Given the description of an element on the screen output the (x, y) to click on. 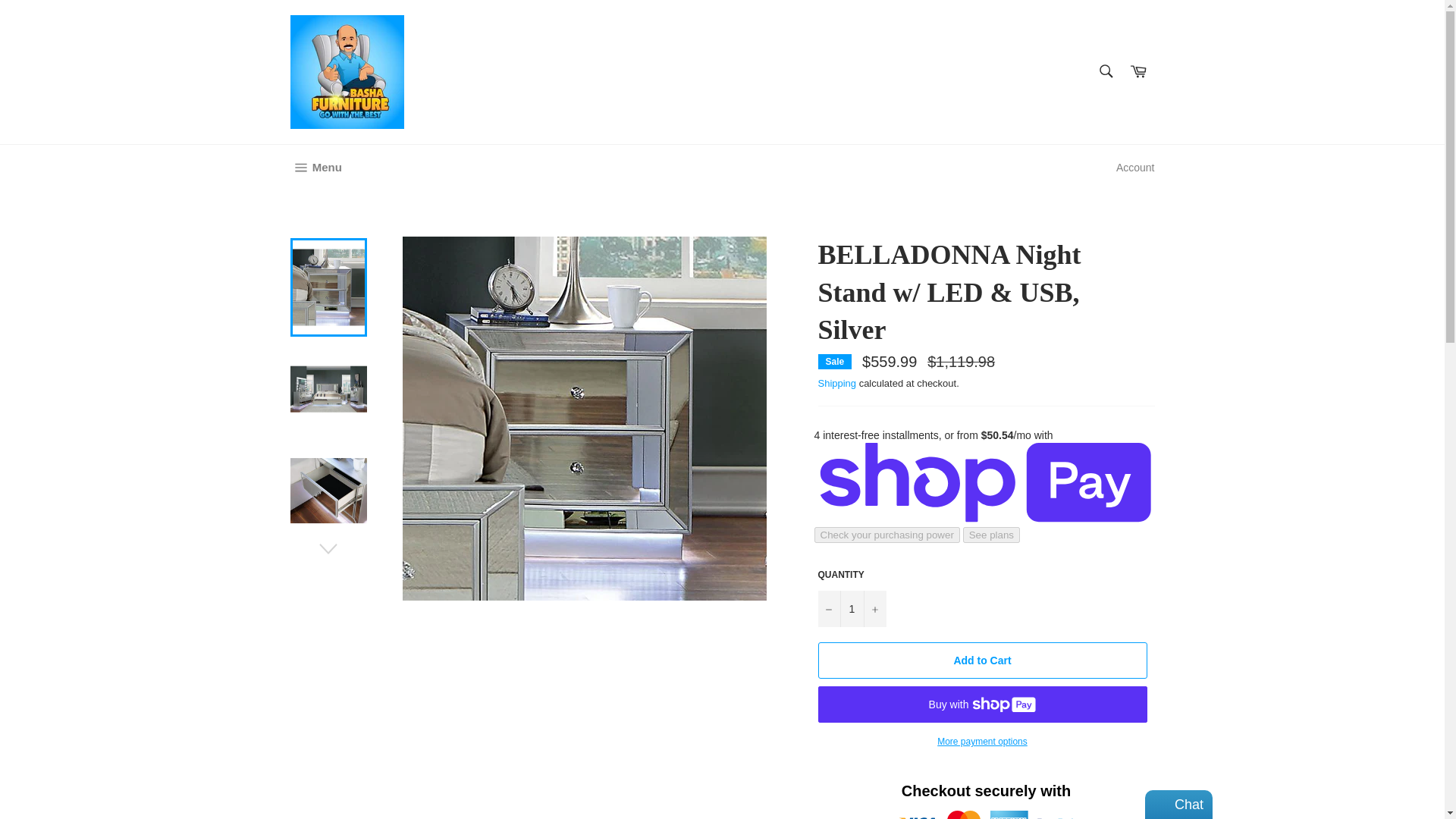
1 (850, 608)
